Given the description of an element on the screen output the (x, y) to click on. 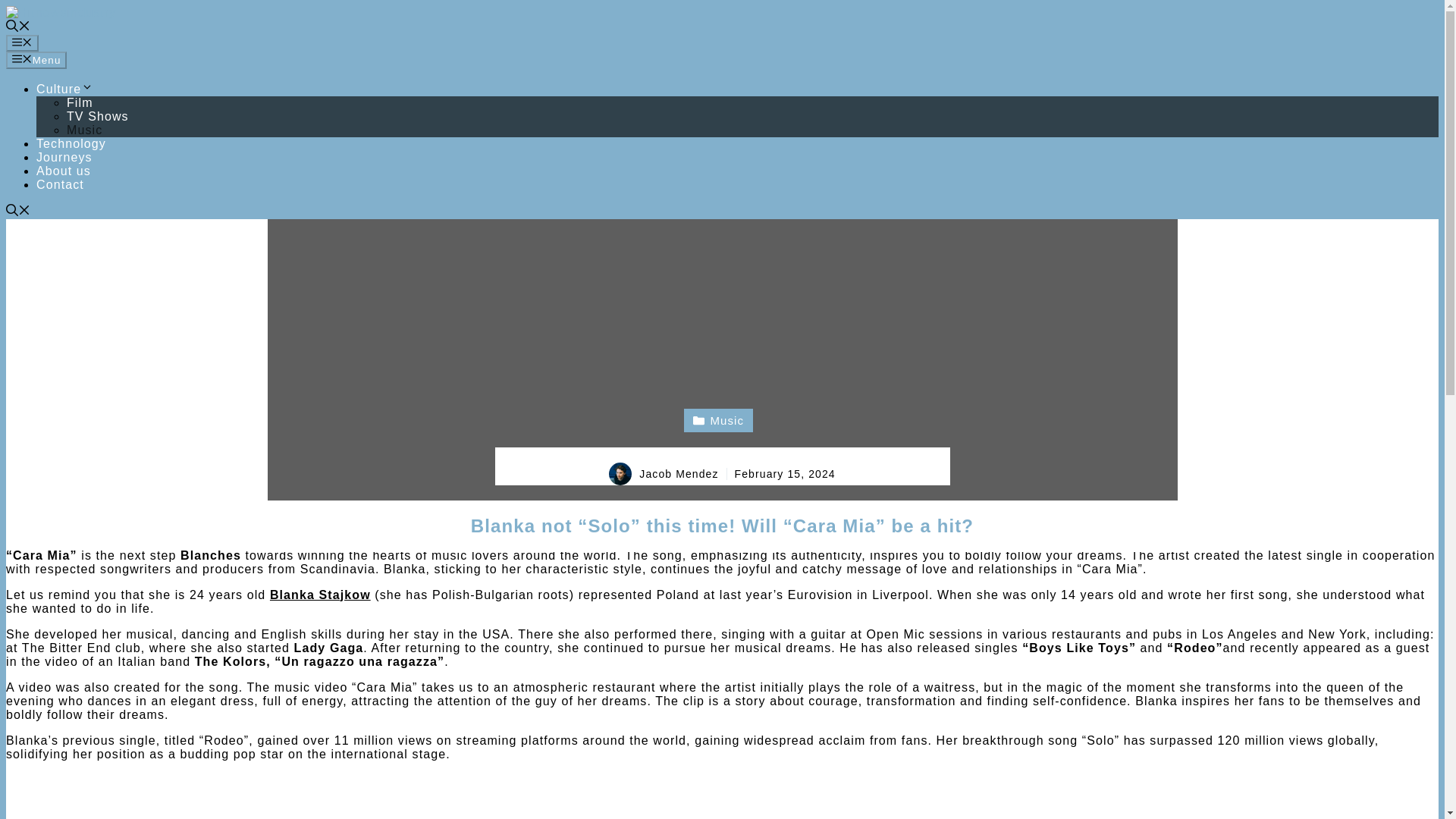
Technology (71, 143)
Journeys (64, 156)
Culture (64, 88)
Menu (35, 59)
Contact (60, 184)
Film (79, 102)
Music (718, 420)
Music (83, 129)
Menu (22, 43)
About us (63, 170)
TV Shows (97, 115)
